Given the description of an element on the screen output the (x, y) to click on. 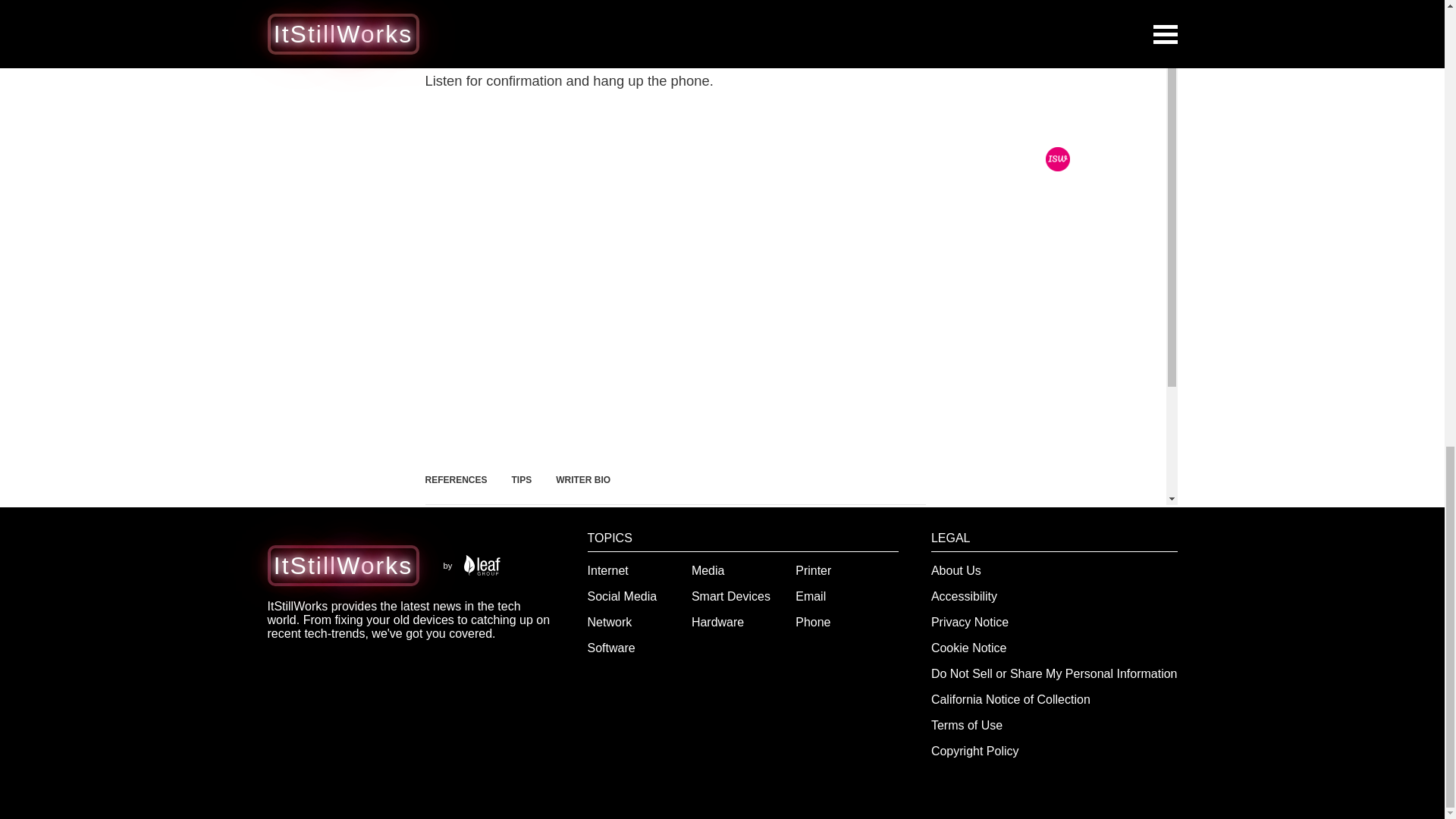
Copyright Policy (975, 750)
Terms of Use (967, 725)
Privacy Notice (970, 621)
Software (611, 647)
Media (708, 570)
About Us (956, 570)
Internet (608, 570)
ItStillWorks (342, 565)
Email (809, 595)
California Notice of Collection (1010, 698)
Network (609, 621)
Smart Devices (730, 595)
Printer (812, 570)
Do Not Sell or Share My Personal Information (1054, 673)
Cookie Notice (969, 647)
